Given the description of an element on the screen output the (x, y) to click on. 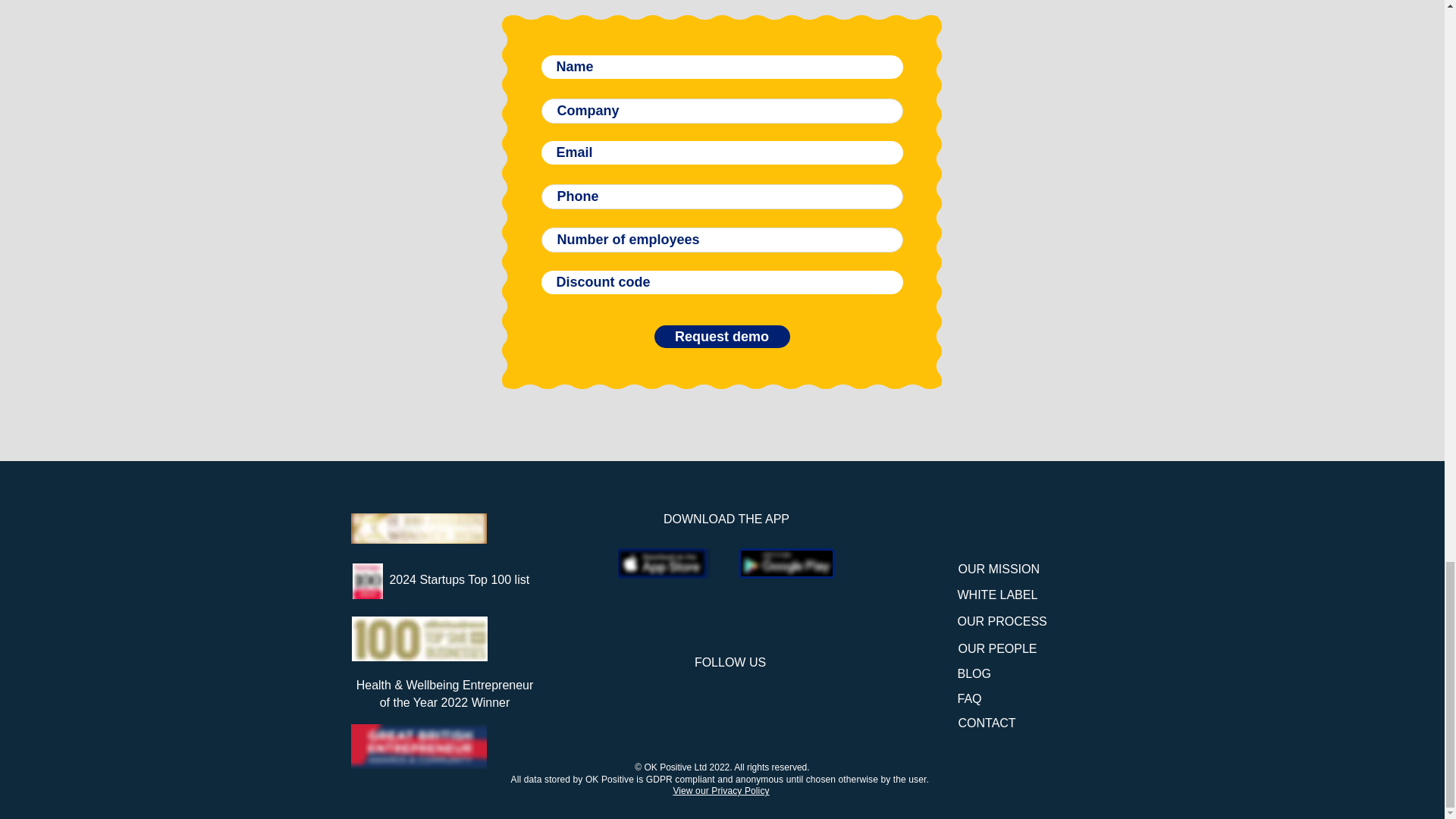
BLOG (973, 673)
OUR PEOPLE (997, 648)
Awards-Community-Logo-2.png (418, 746)
WHITE LABEL (996, 594)
View our Privacy Policy (720, 790)
Request demo (721, 336)
OUR PROCESS (1001, 621)
CONTACT (987, 722)
FAQ (968, 698)
OUR MISSION (999, 568)
